Given the description of an element on the screen output the (x, y) to click on. 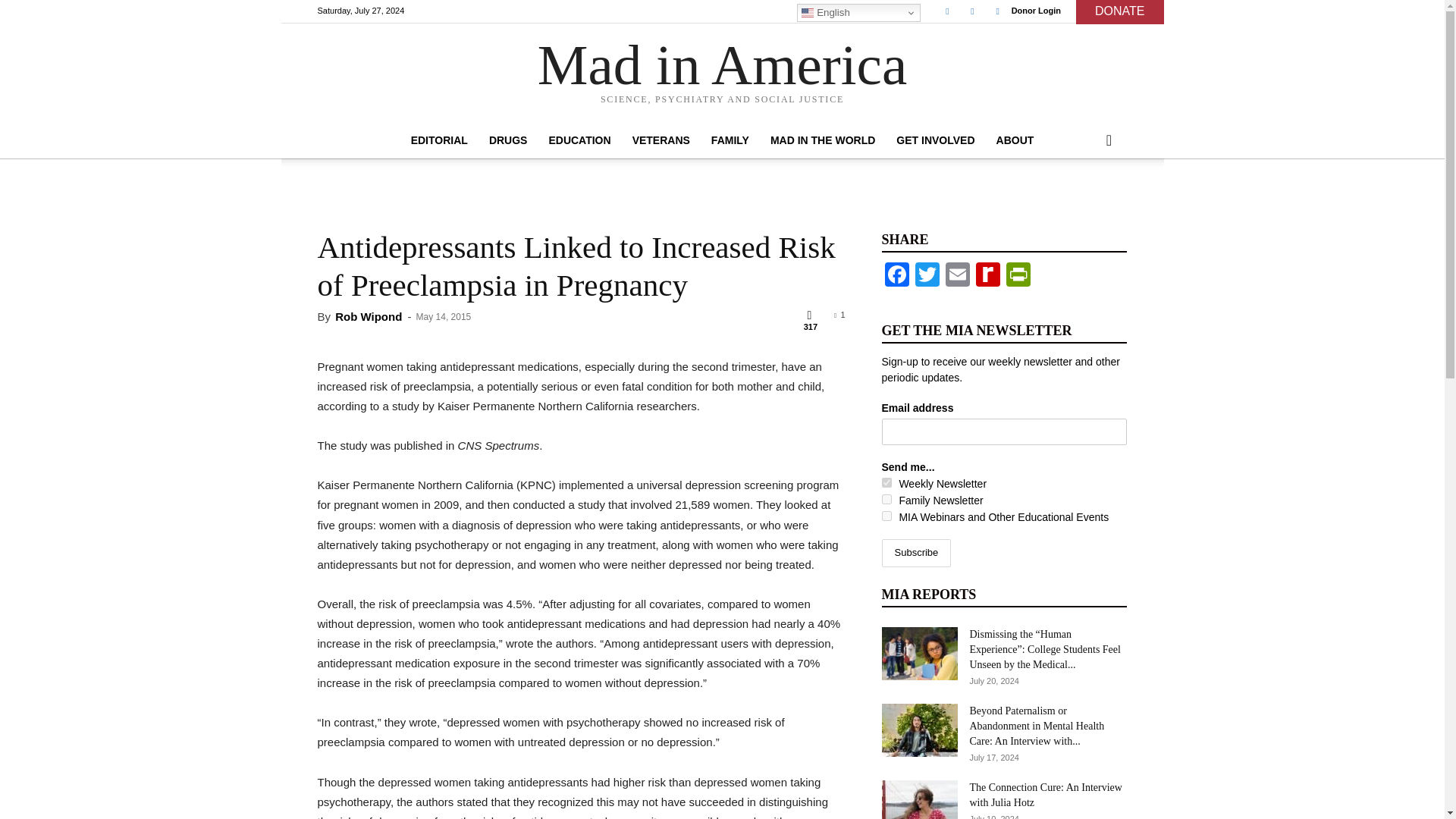
Youtube (998, 10)
59a3706891 (885, 515)
a8b577bac2 (885, 482)
Subscribe (915, 552)
Posts by Rob Wipond (367, 316)
64ec82b4cd (885, 499)
Facebook (947, 10)
Twitter (972, 10)
